Given the description of an element on the screen output the (x, y) to click on. 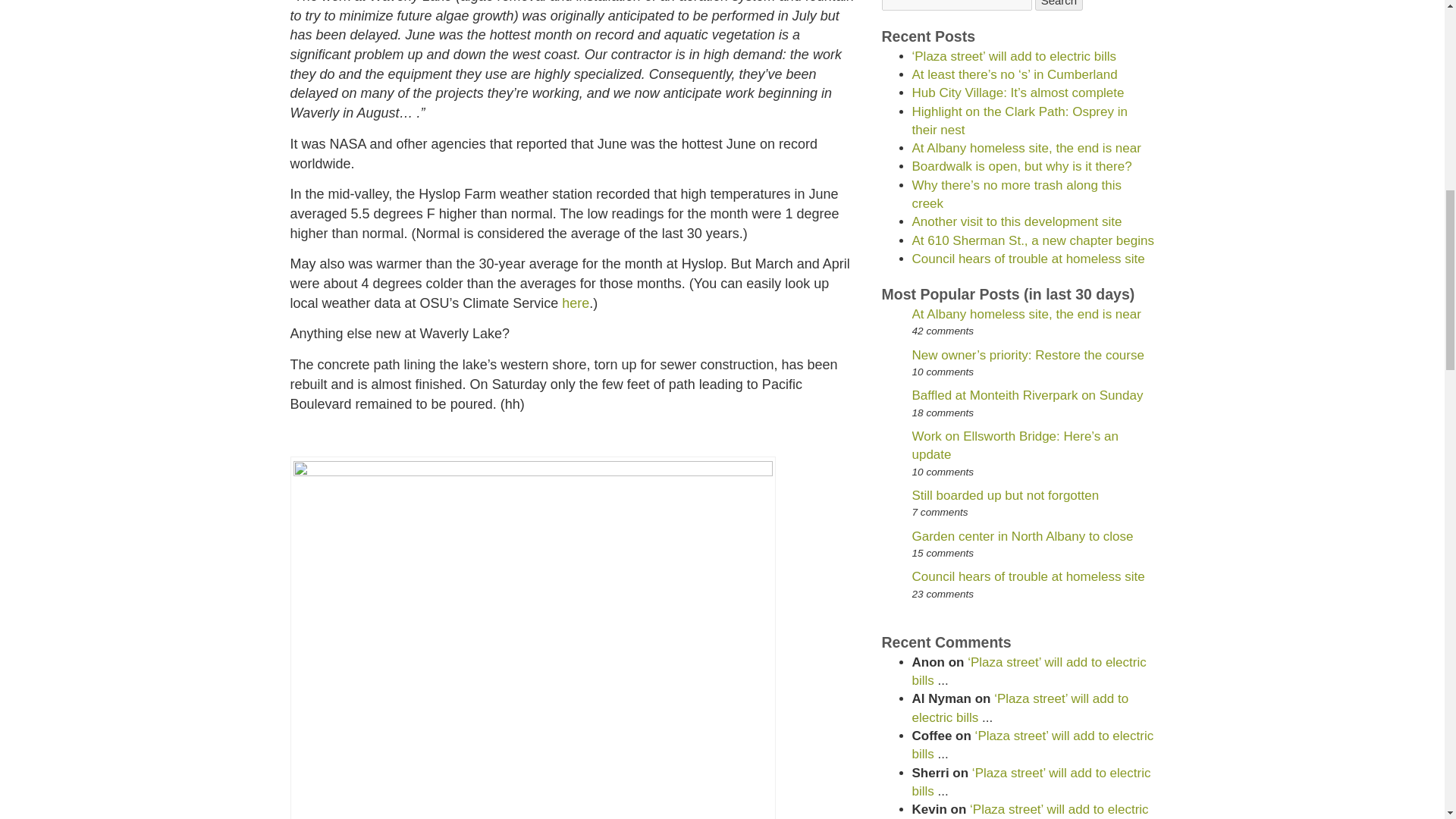
here (575, 303)
Search (1059, 4)
Search (1059, 4)
